Given the description of an element on the screen output the (x, y) to click on. 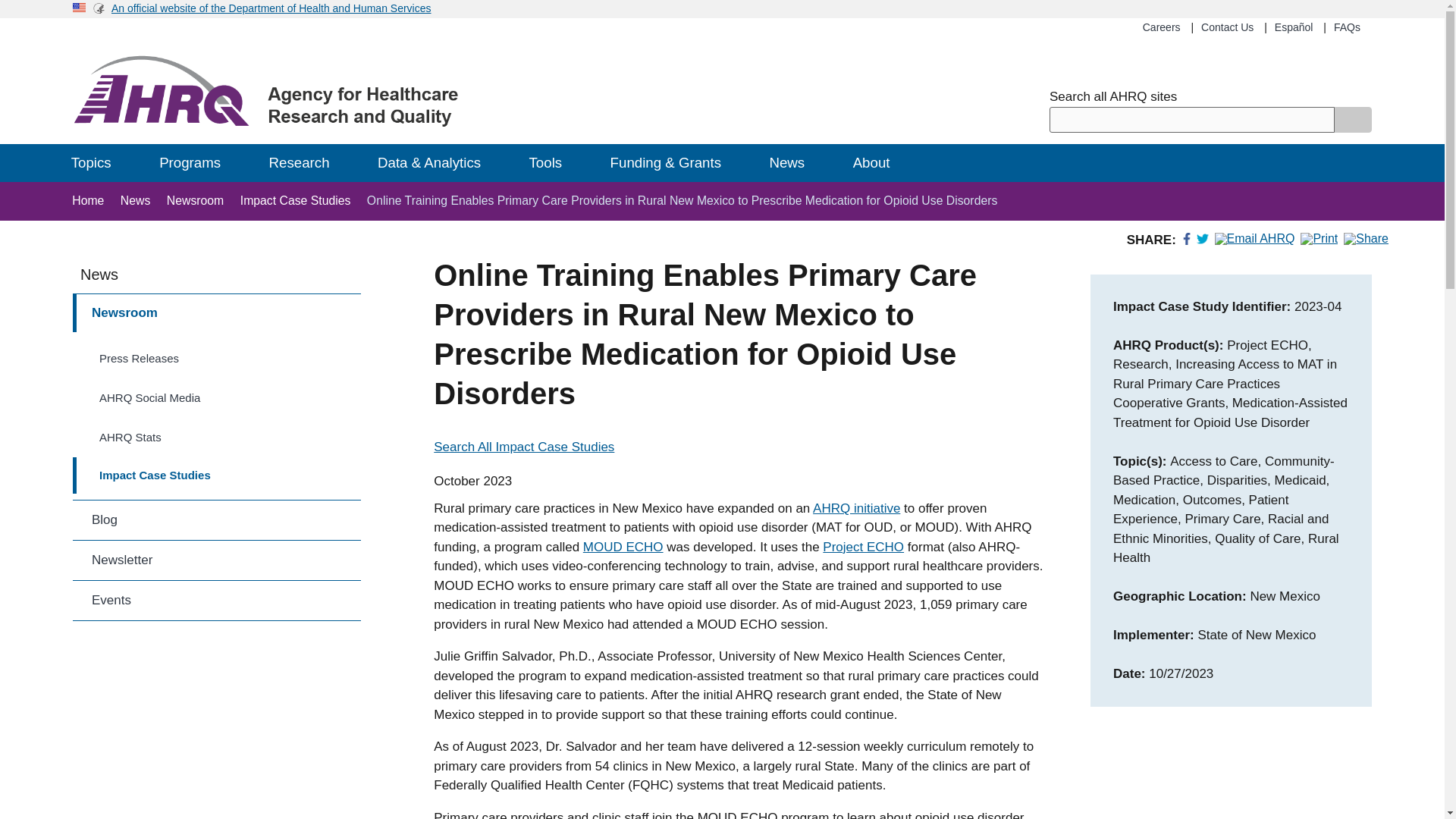
Skip to main content (721, 1)
About (879, 162)
Research (307, 162)
Contact Us (1227, 27)
News (794, 162)
FAQs (1346, 27)
Programs (198, 162)
Topics (99, 162)
Careers (1161, 27)
Tools (552, 162)
